Given the description of an element on the screen output the (x, y) to click on. 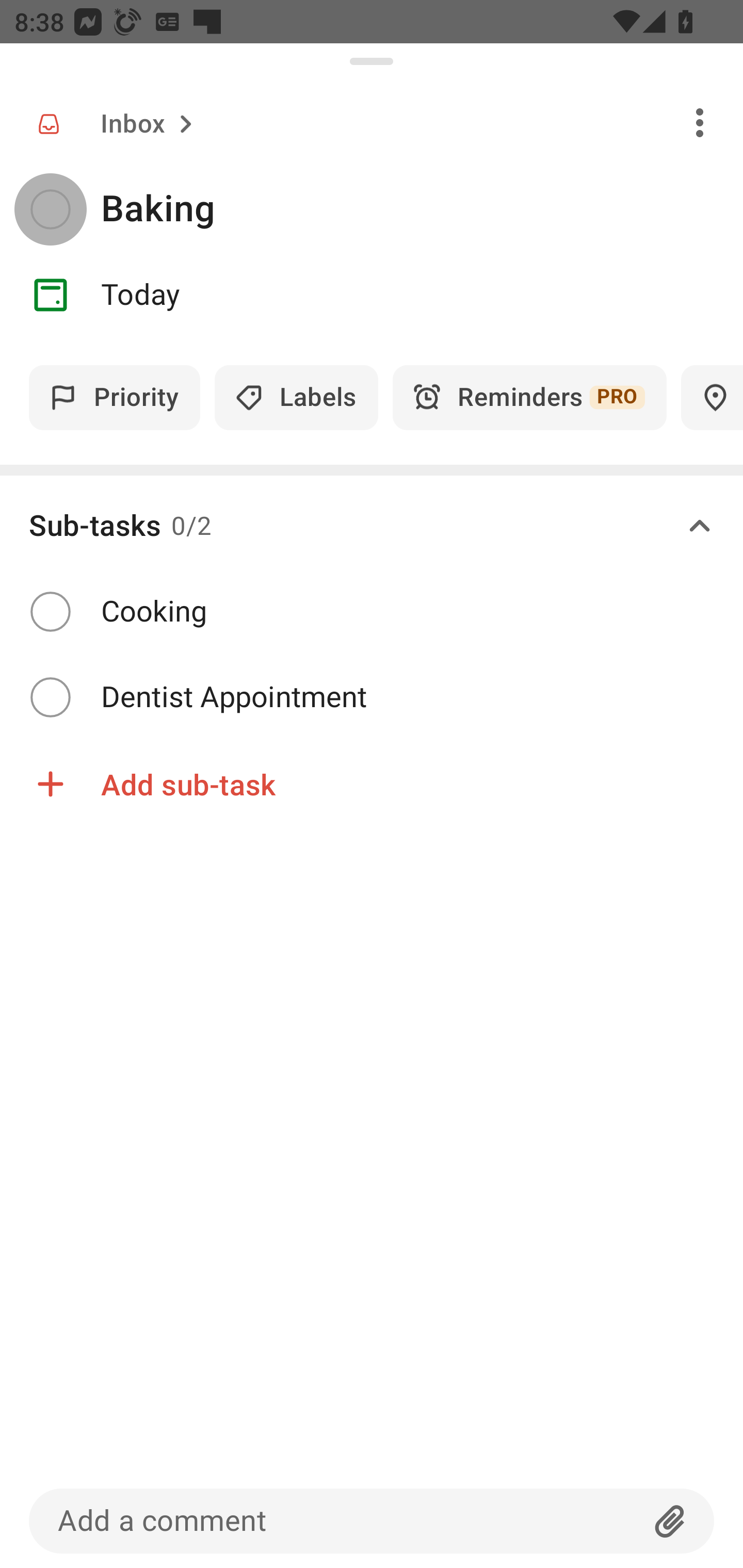
Overflow menu (699, 122)
Complete (50, 209)
Baking​ (422, 209)
Date Today (371, 295)
Priority (113, 397)
Labels (296, 397)
Reminders PRO (529, 397)
Locations PRO (712, 397)
Sub-tasks 0/2 Expand/collapse (371, 525)
Expand/collapse (699, 525)
Complete Cooking (371, 612)
Complete (50, 611)
Complete Dentist Appointment (371, 697)
Complete (50, 697)
Add sub-task (371, 783)
Add a comment Attachment (371, 1520)
Attachment (670, 1520)
